Given the description of an element on the screen output the (x, y) to click on. 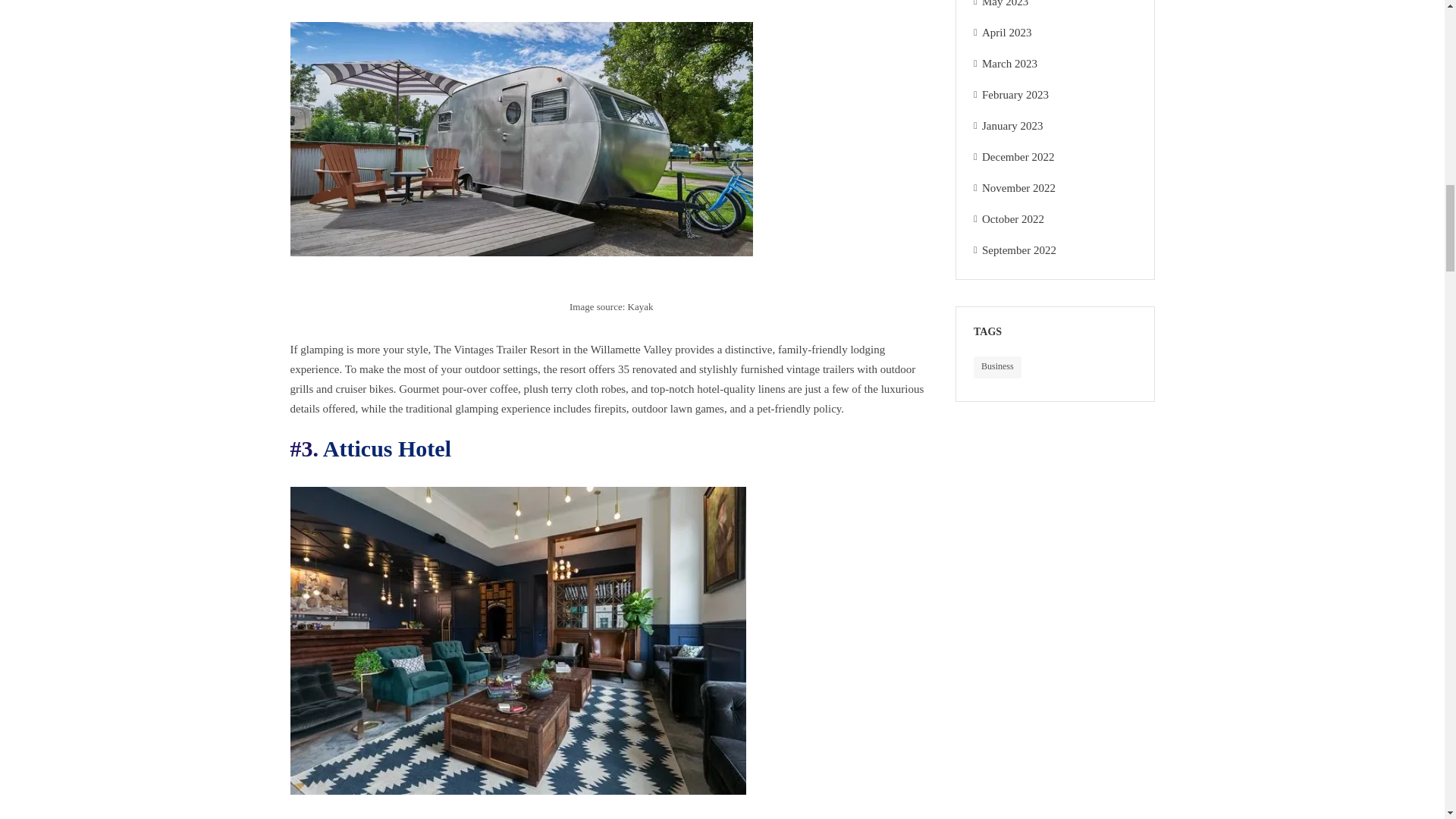
Atticus Hotel (387, 448)
